Given the description of an element on the screen output the (x, y) to click on. 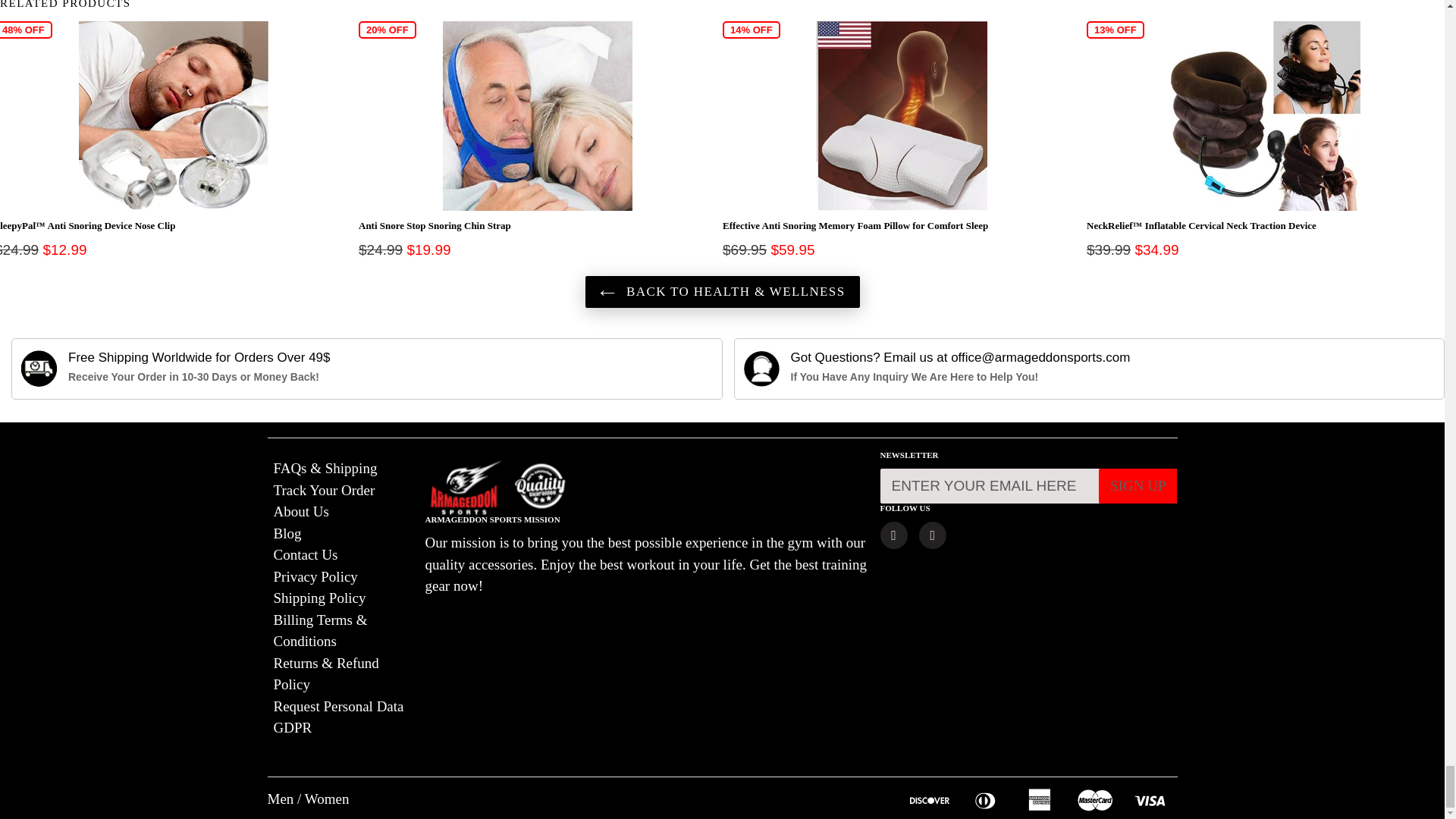
discover (934, 798)
visa (1151, 798)
american express (1043, 798)
diners club (989, 798)
SIGN UP (1137, 486)
Armageddon Sports on Instagram (932, 534)
Armageddon Sports on Facebook (893, 534)
